Given the description of an element on the screen output the (x, y) to click on. 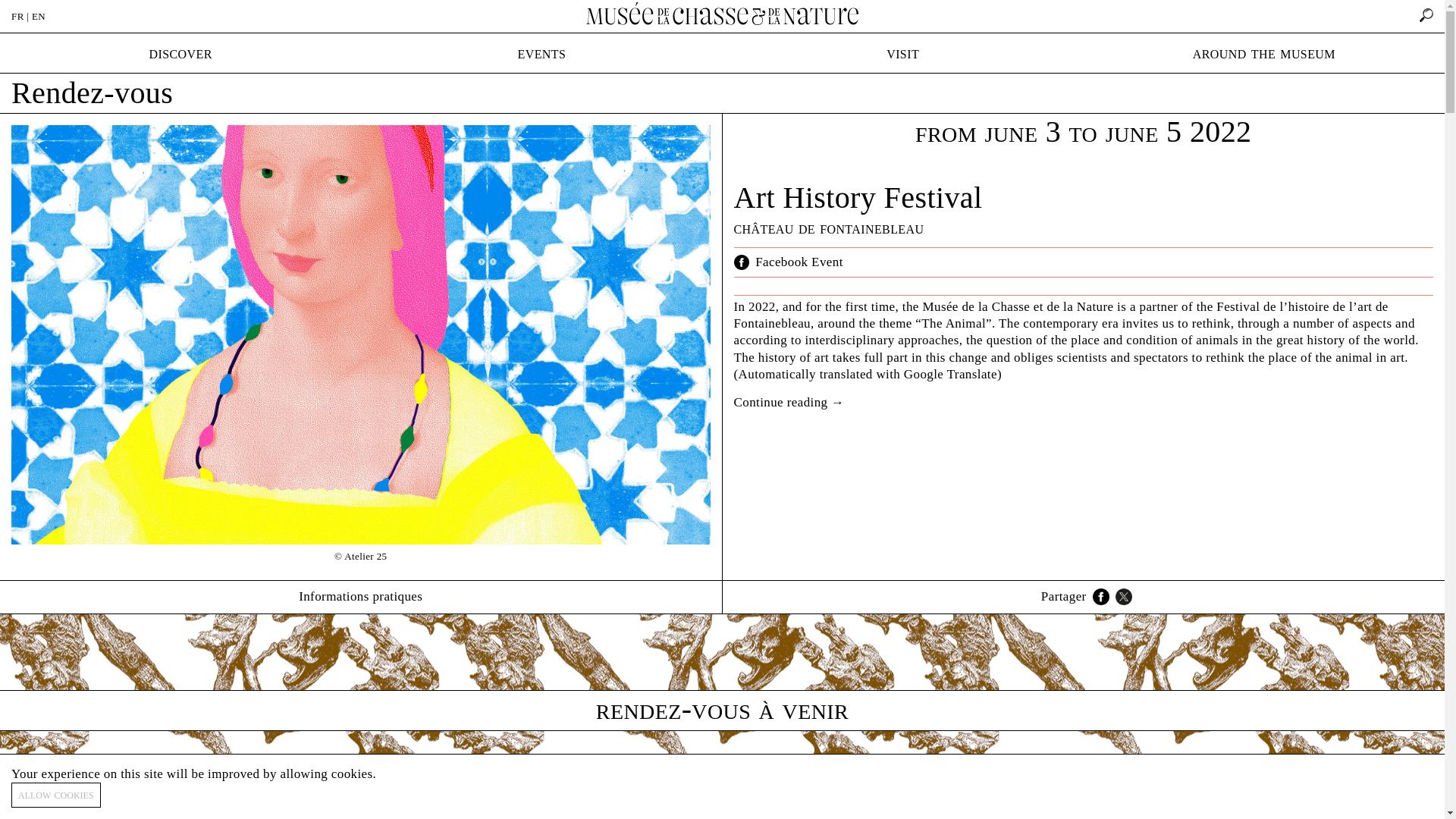
Facebook Event (799, 261)
FR (17, 16)
Rendez-vous (92, 92)
